Given the description of an element on the screen output the (x, y) to click on. 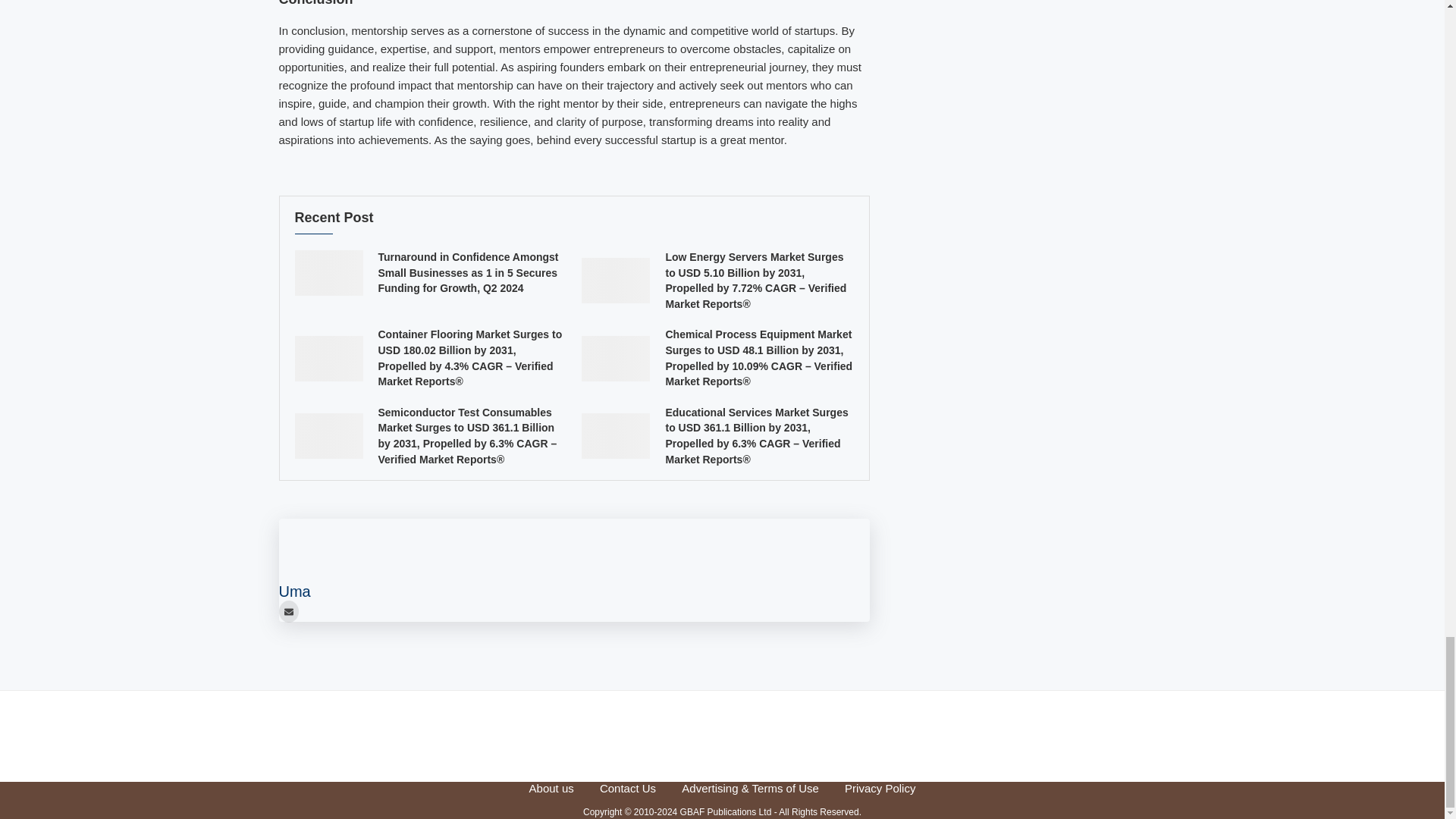
Contact Us (627, 788)
User email (288, 611)
Privacy Policy (879, 788)
Uma (295, 591)
About us (551, 788)
